Given the description of an element on the screen output the (x, y) to click on. 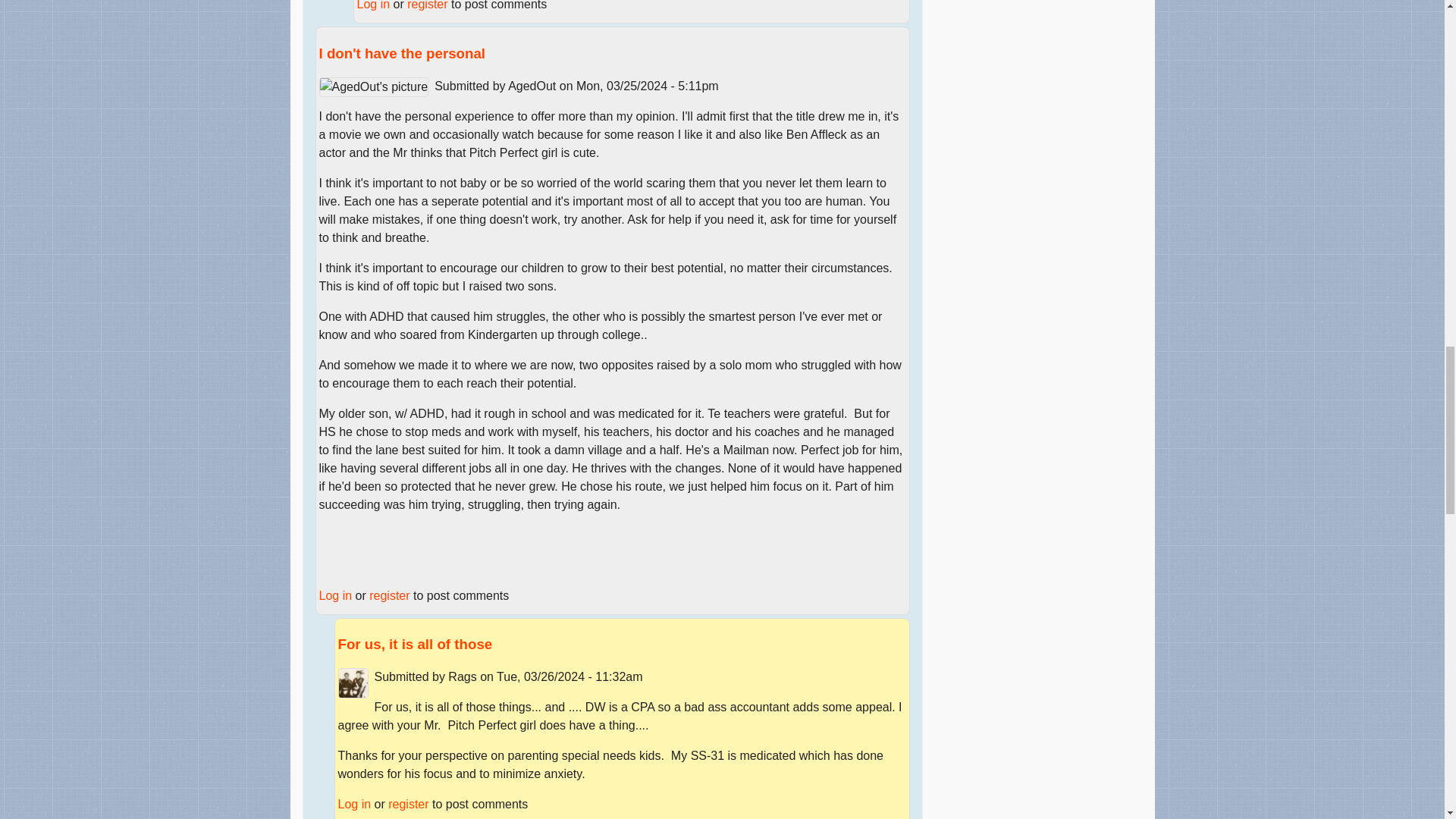
AgedOut's picture (373, 86)
register (408, 803)
Log in (354, 803)
Rags's picture (352, 683)
I don't have the personal (401, 53)
register (389, 594)
register (426, 5)
Log in (373, 5)
For us, it is all of those (415, 643)
Log in (335, 594)
